Given the description of an element on the screen output the (x, y) to click on. 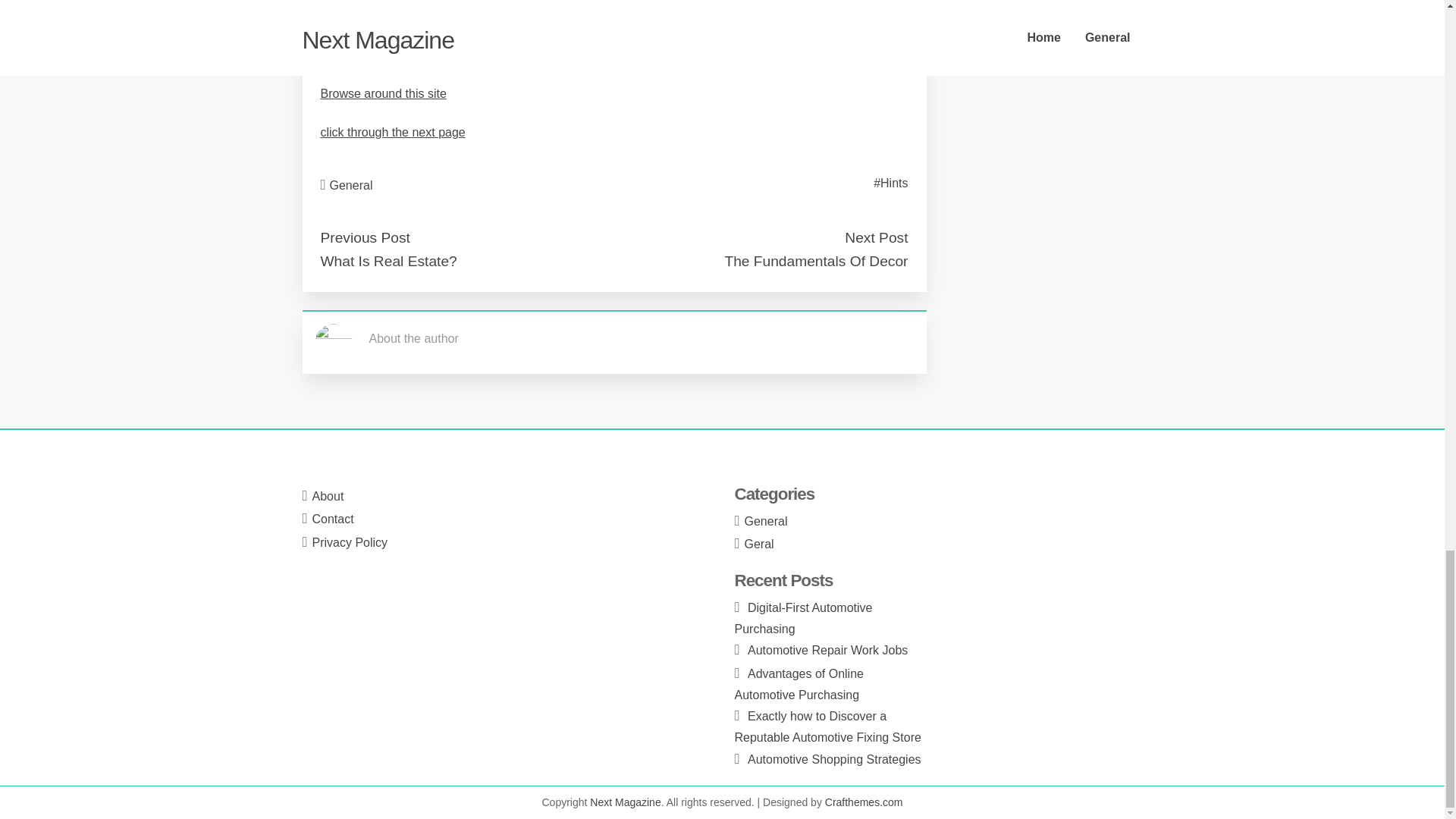
Contact (333, 518)
Previous Post (364, 237)
The Fundamentals Of Decor (815, 261)
What Is Real Estate? (388, 261)
General (351, 184)
About (328, 495)
Next Post (875, 237)
Privacy Policy (350, 542)
Browse around this site (382, 92)
click through the next page (392, 132)
